Given the description of an element on the screen output the (x, y) to click on. 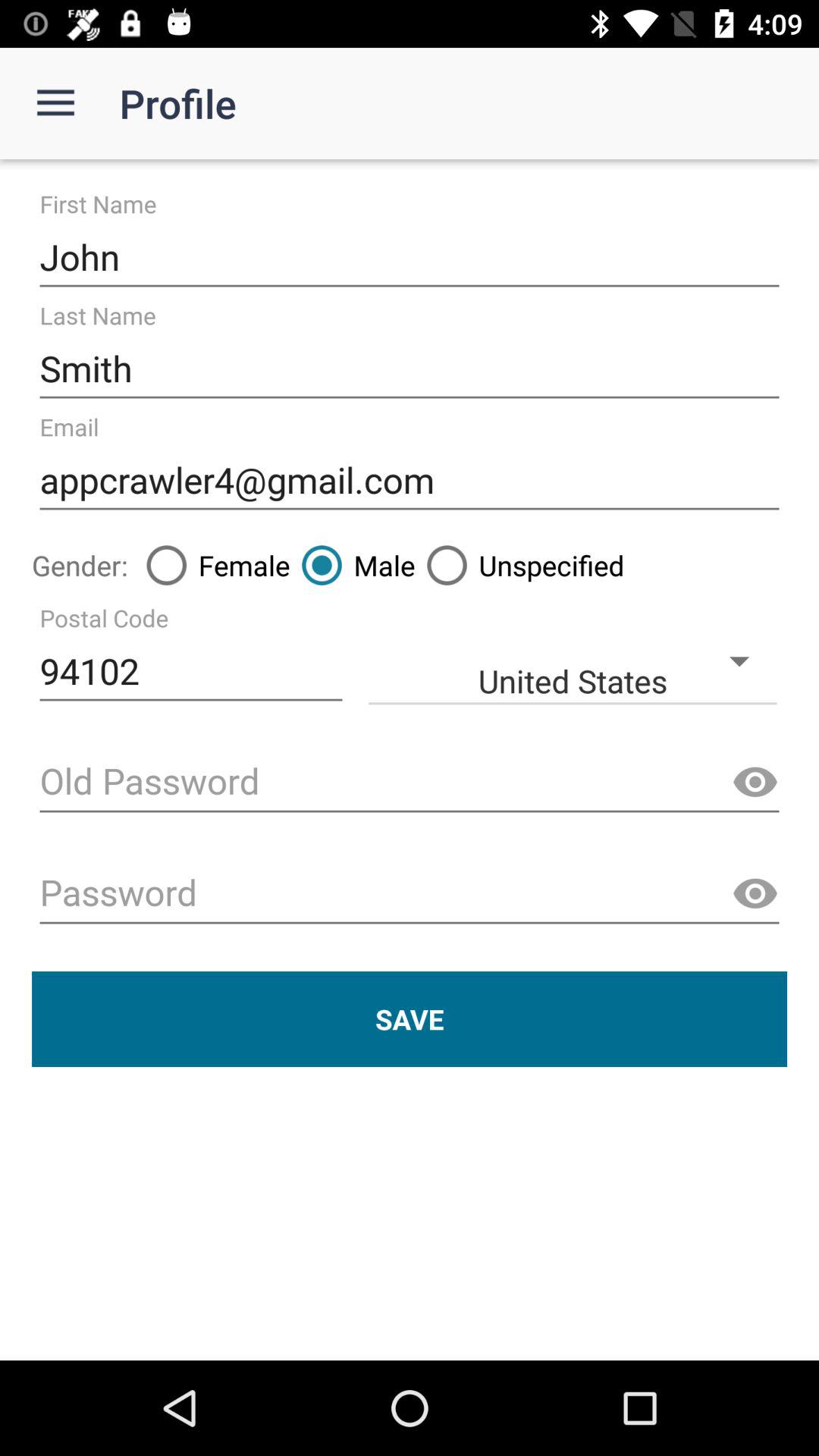
tap item to the right of male icon (519, 565)
